Given the description of an element on the screen output the (x, y) to click on. 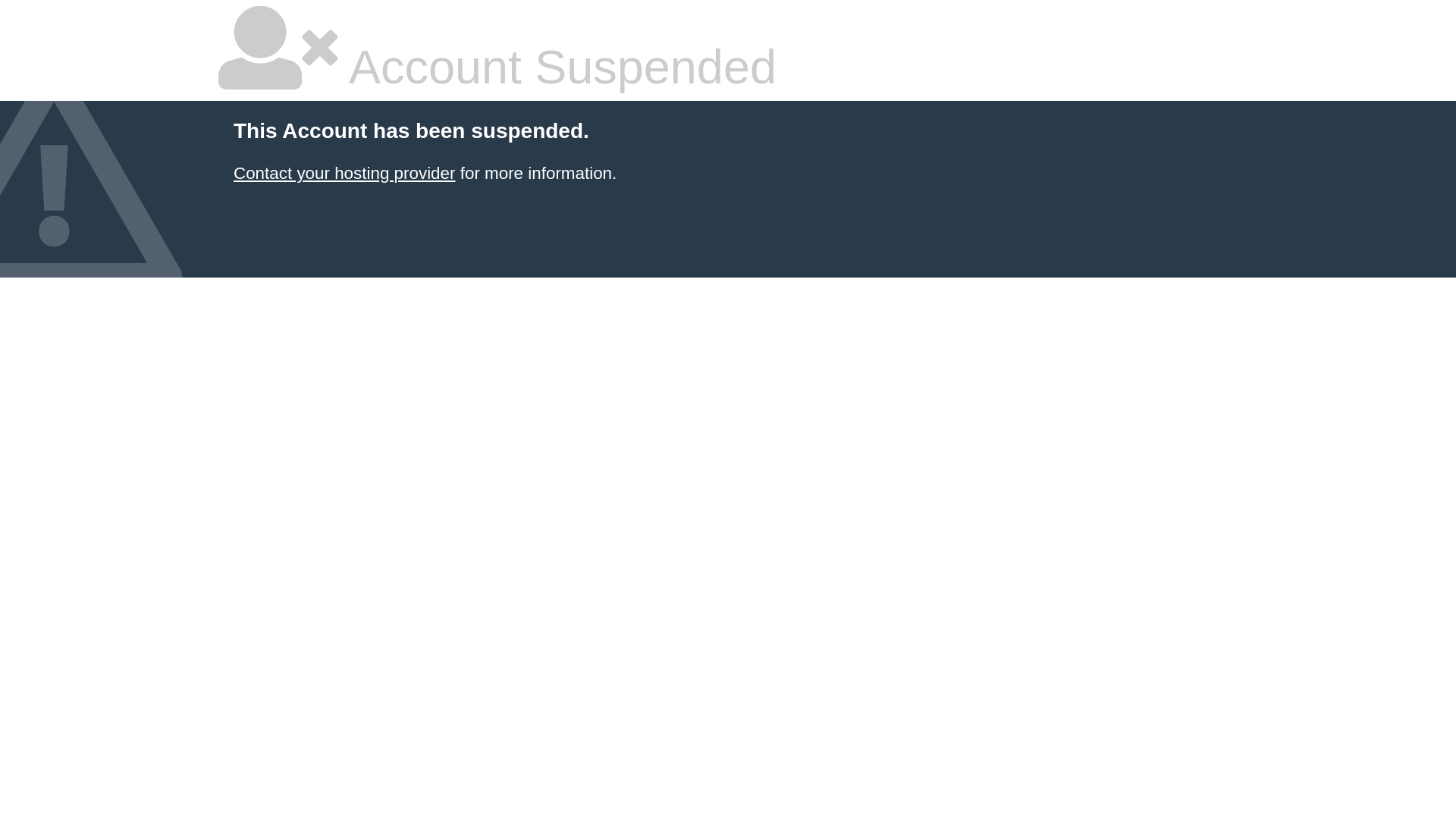
Contact your hosting provider Element type: text (344, 172)
